Given the description of an element on the screen output the (x, y) to click on. 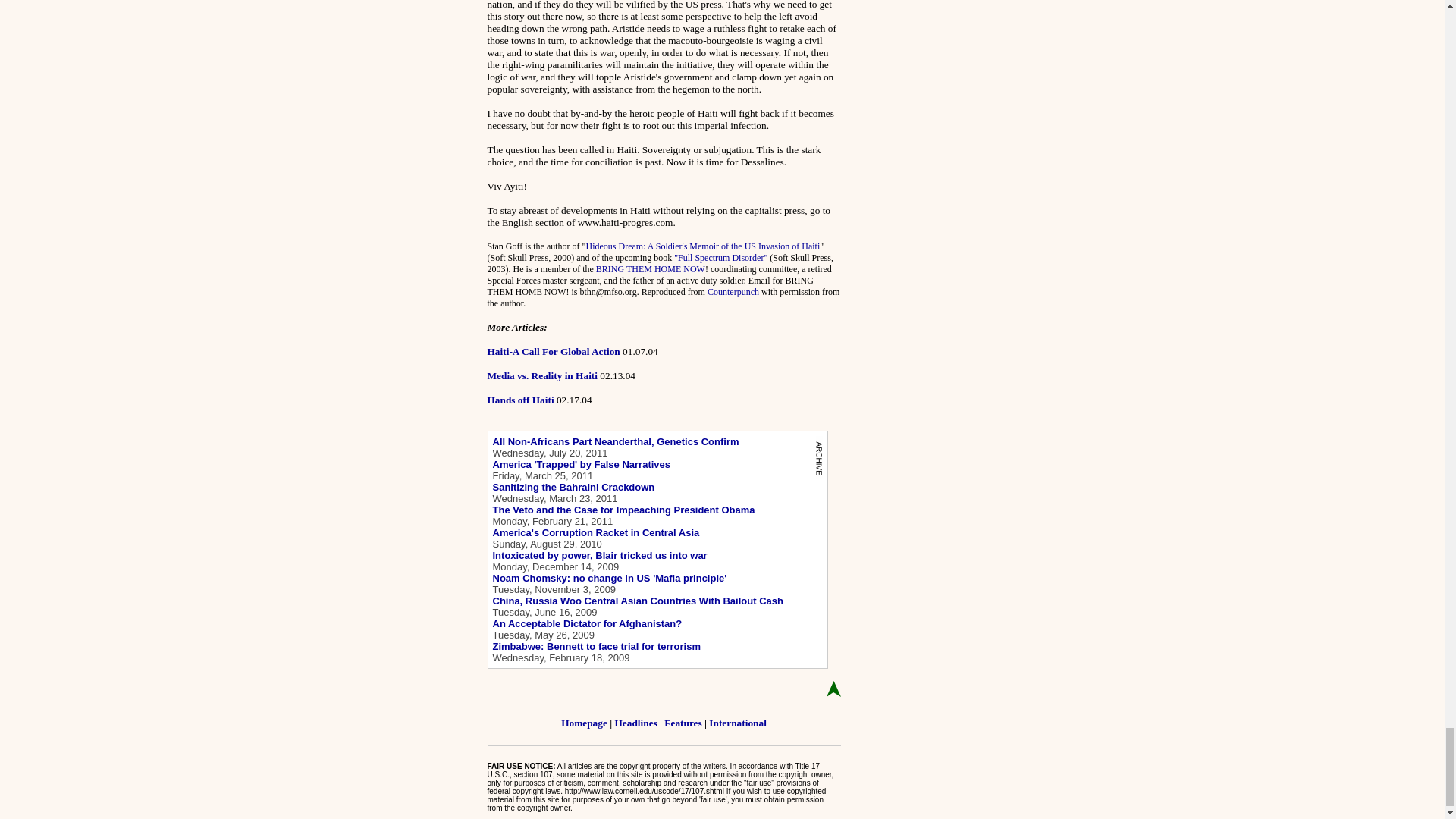
Counterpunch (732, 291)
America's Corruption Racket in Central Asia (596, 532)
Sanitizing the Bahraini Crackdown (574, 487)
Hands off Haiti (519, 399)
Zimbabwe: Bennett to face trial for terrorism (597, 645)
America 'Trapped' by False Narratives (582, 464)
China, Russia Woo Central Asian Countries With Bailout Cash (638, 600)
BRING THEM HOME NOW (649, 268)
Intoxicated by power, Blair tricked us into war (600, 555)
